Given the description of an element on the screen output the (x, y) to click on. 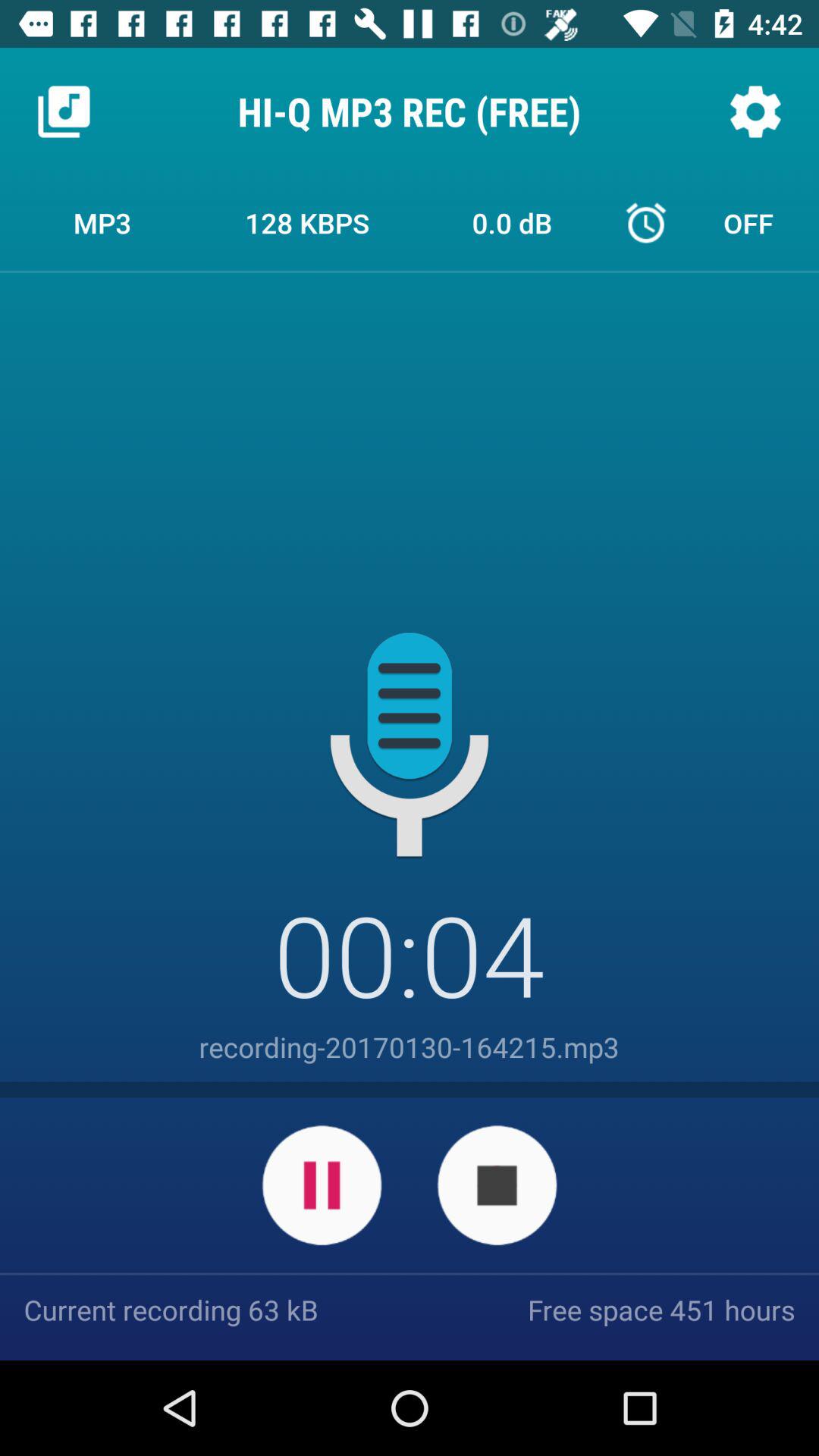
launch icon to the right of mp3 item (306, 222)
